Given the description of an element on the screen output the (x, y) to click on. 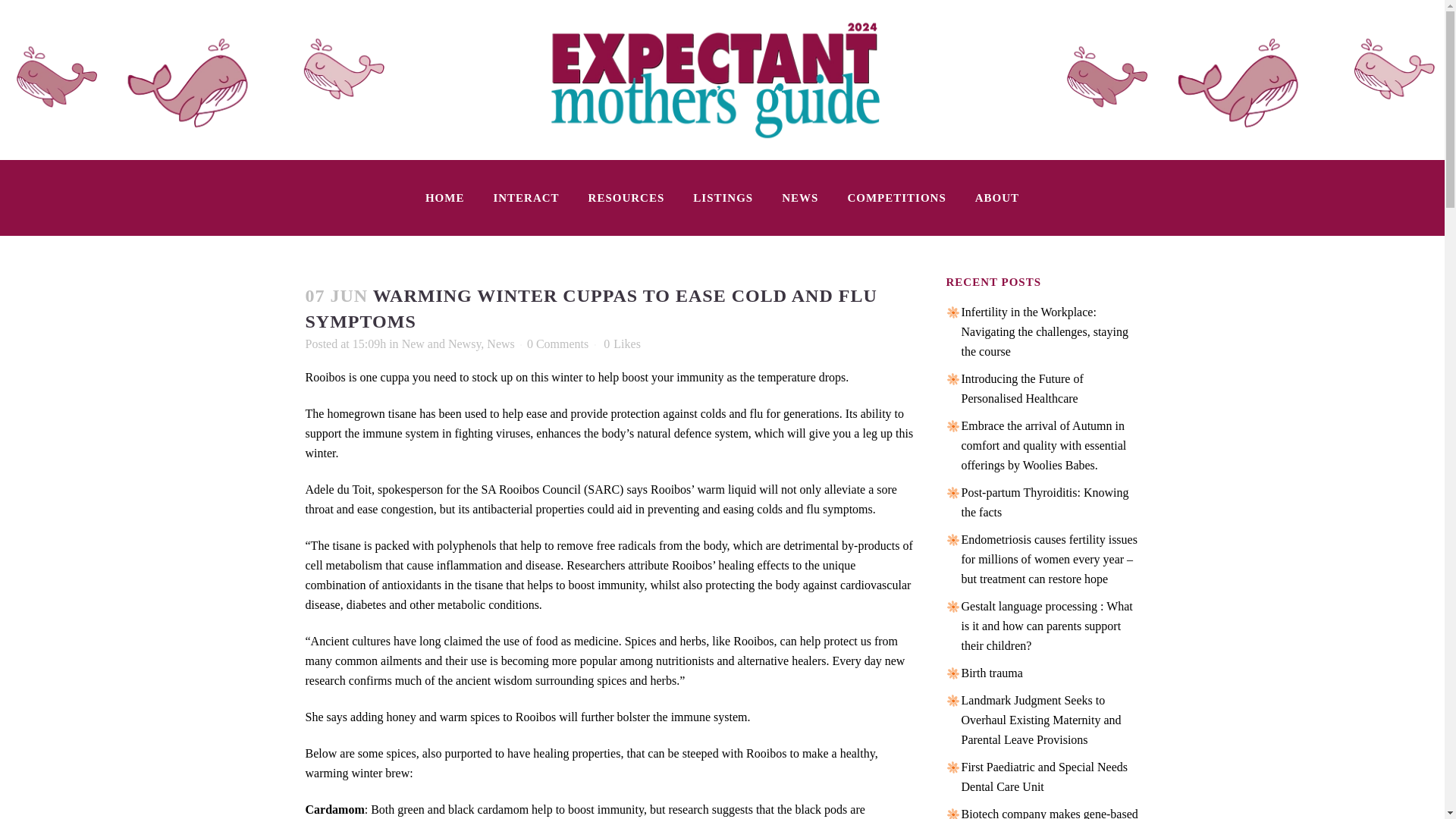
RESOURCES (626, 197)
LISTINGS (722, 197)
INTERACT (526, 197)
COMPETITIONS (896, 197)
Like this (622, 344)
